Given the description of an element on the screen output the (x, y) to click on. 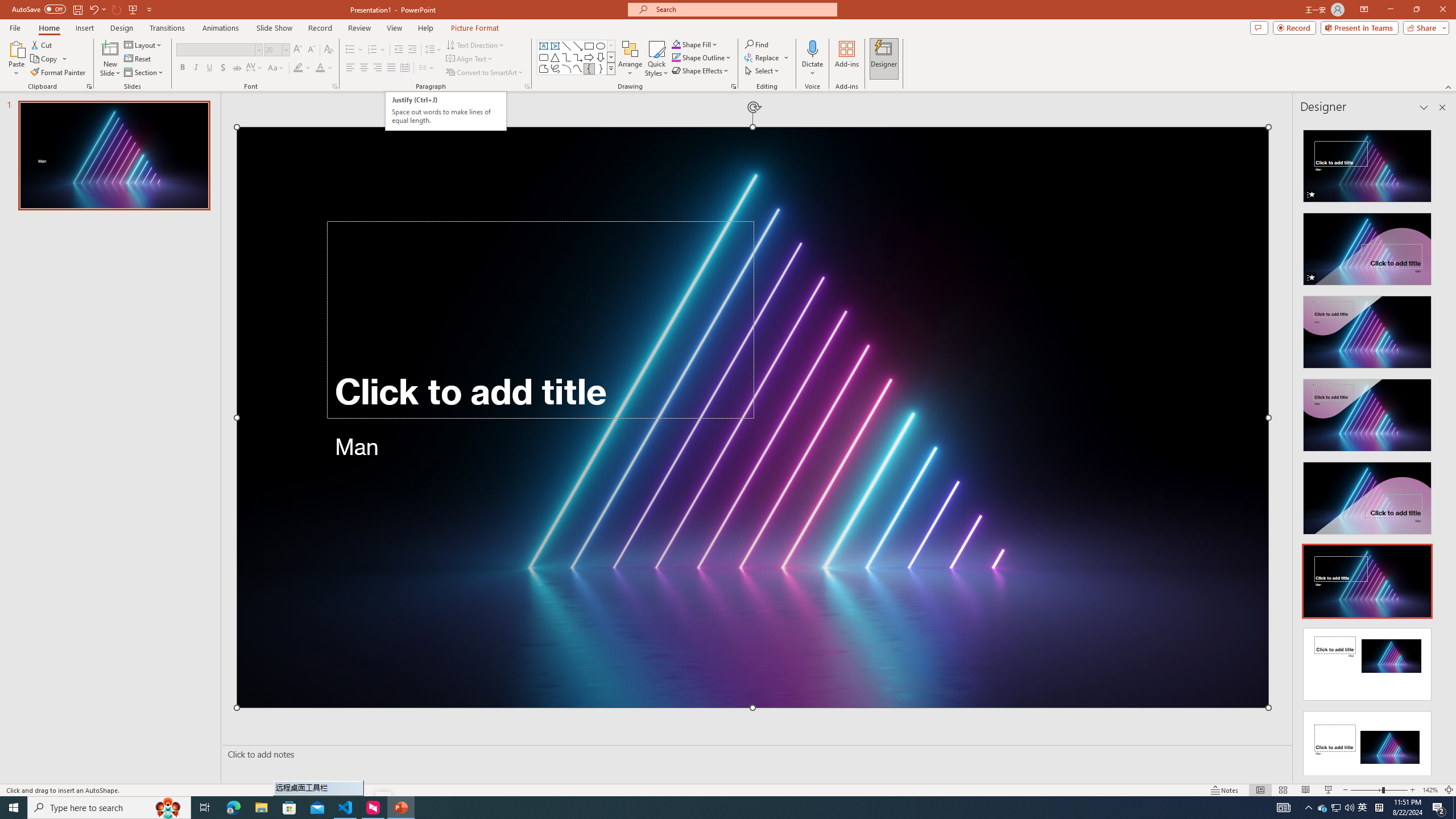
Picture Format (475, 28)
